Given the description of an element on the screen output the (x, y) to click on. 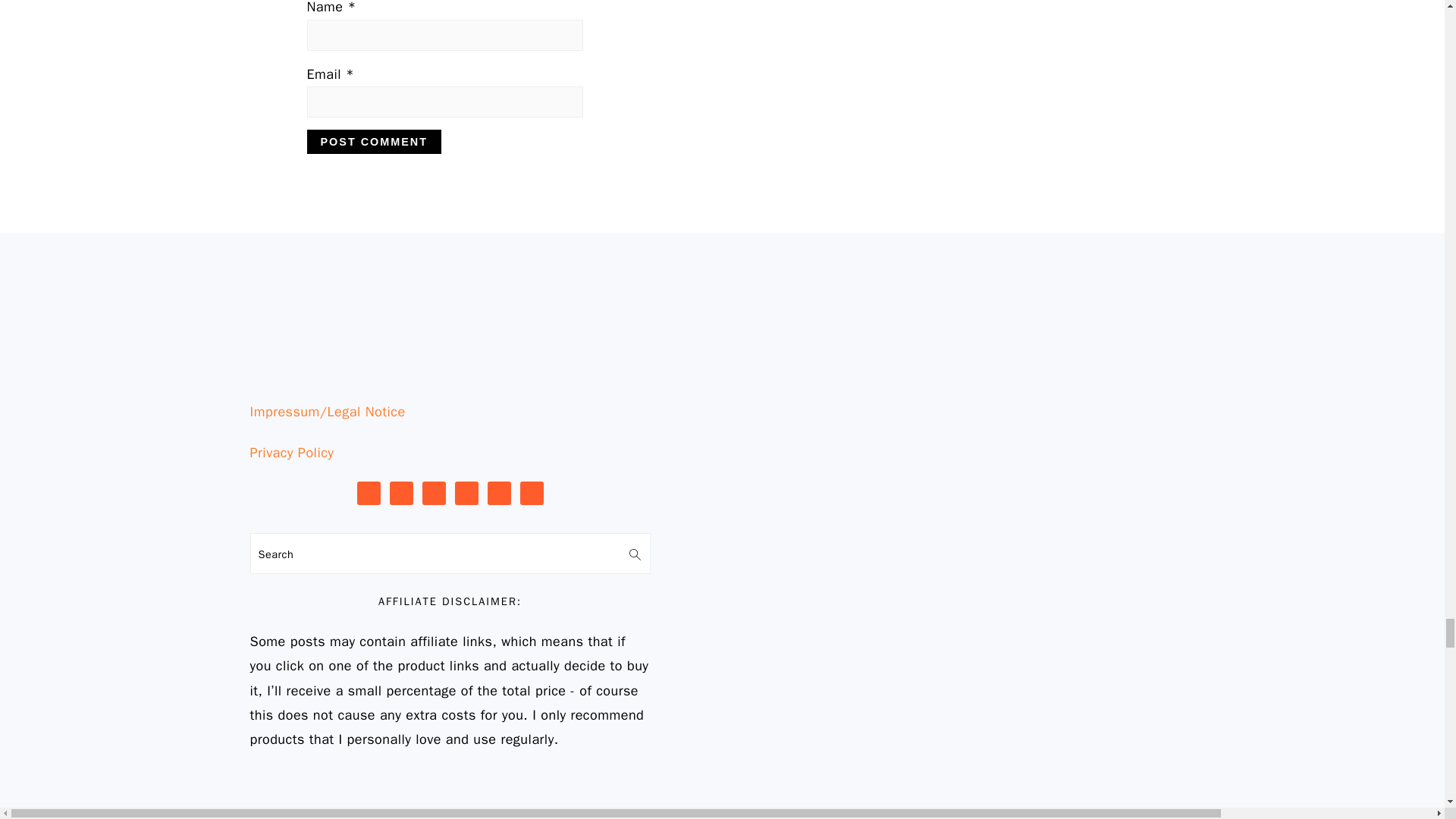
Post Comment (373, 141)
